Given the description of an element on the screen output the (x, y) to click on. 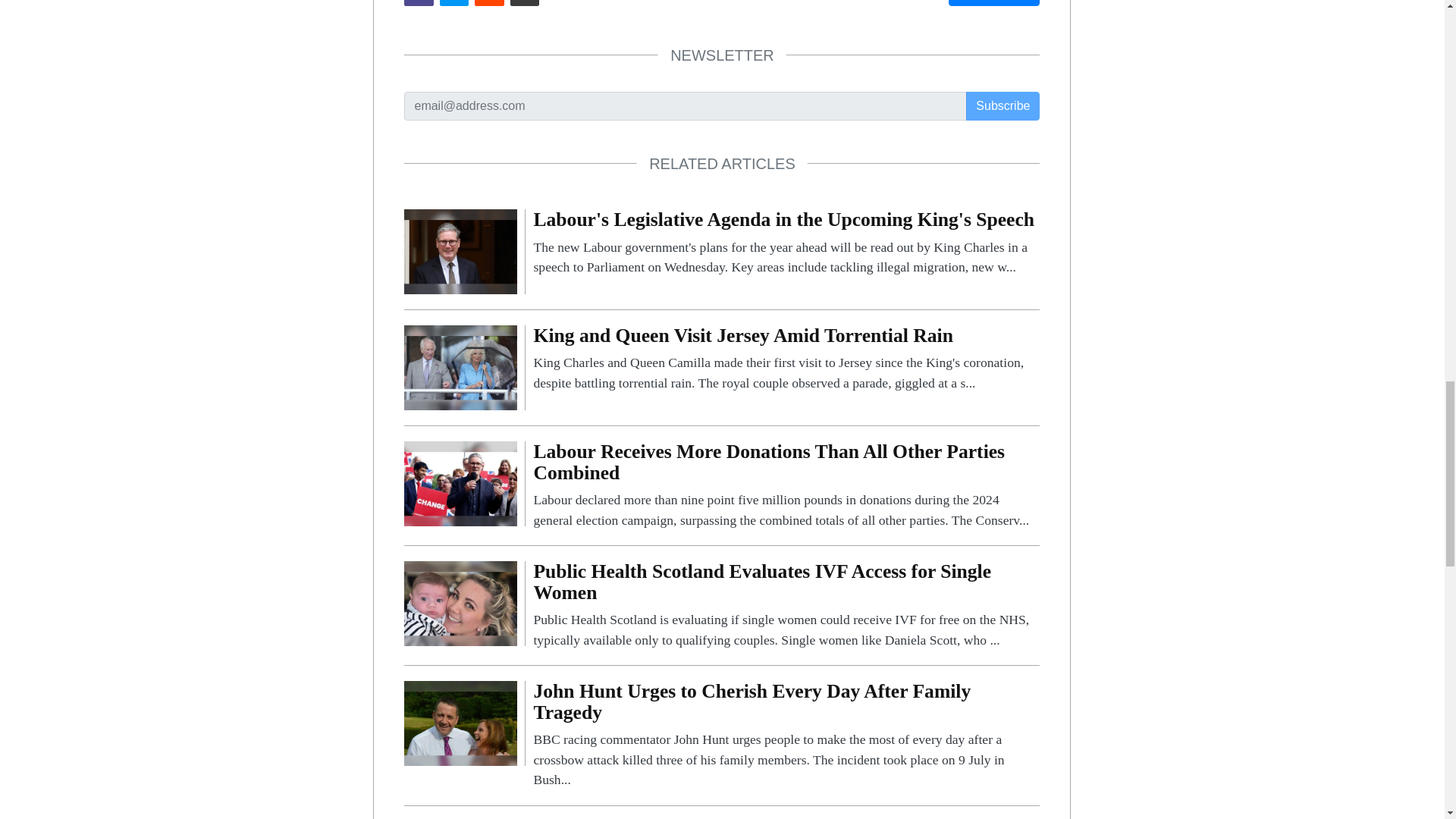
Subscribe (1002, 105)
King and Queen Visit Jersey Amid Torrential Rain (460, 366)
John Hunt Urges to Cherish Every Day After Family Tragedy (460, 721)
Add Comment (994, 2)
King and Queen Visit Jersey Amid Torrential Rain (785, 359)
Public Health Scotland Evaluates IVF Access for Single Women (460, 602)
Labour's Legislative Agenda in the Upcoming King's Speech (460, 250)
Labour's Legislative Agenda in the Upcoming King's Speech (785, 242)
John Hunt Urges to Cherish Every Day After Family Tragedy (785, 734)
